Given the description of an element on the screen output the (x, y) to click on. 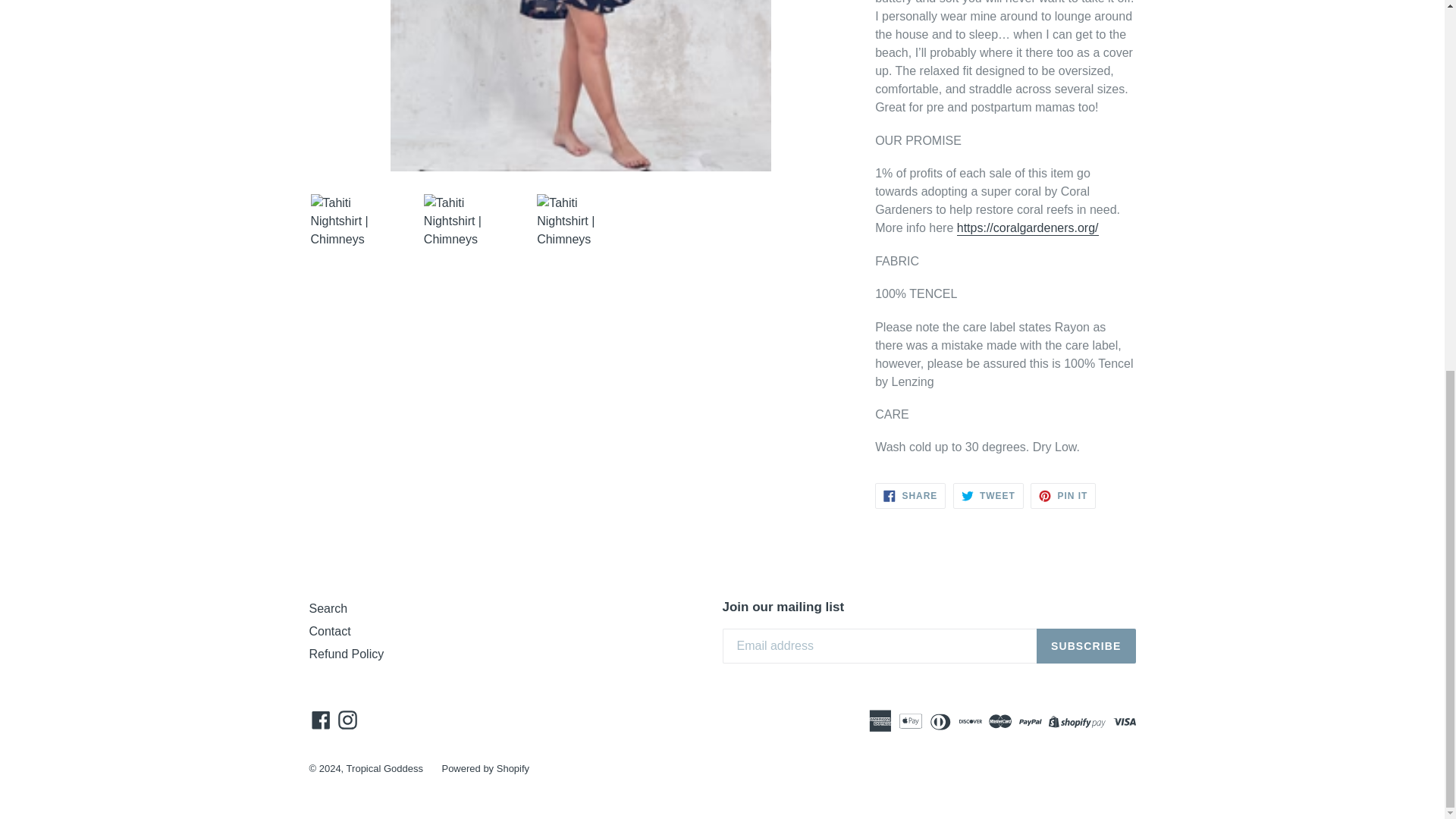
Share on Facebook (909, 495)
Tropical Goddess on Facebook (320, 719)
Contact (329, 631)
Tweet on Twitter (988, 495)
Tropical Goddess on Instagram (347, 719)
Pin on Pinterest (1063, 495)
Search (327, 608)
Tropical Goddess (909, 495)
Powered by Shopify (384, 767)
